Given the description of an element on the screen output the (x, y) to click on. 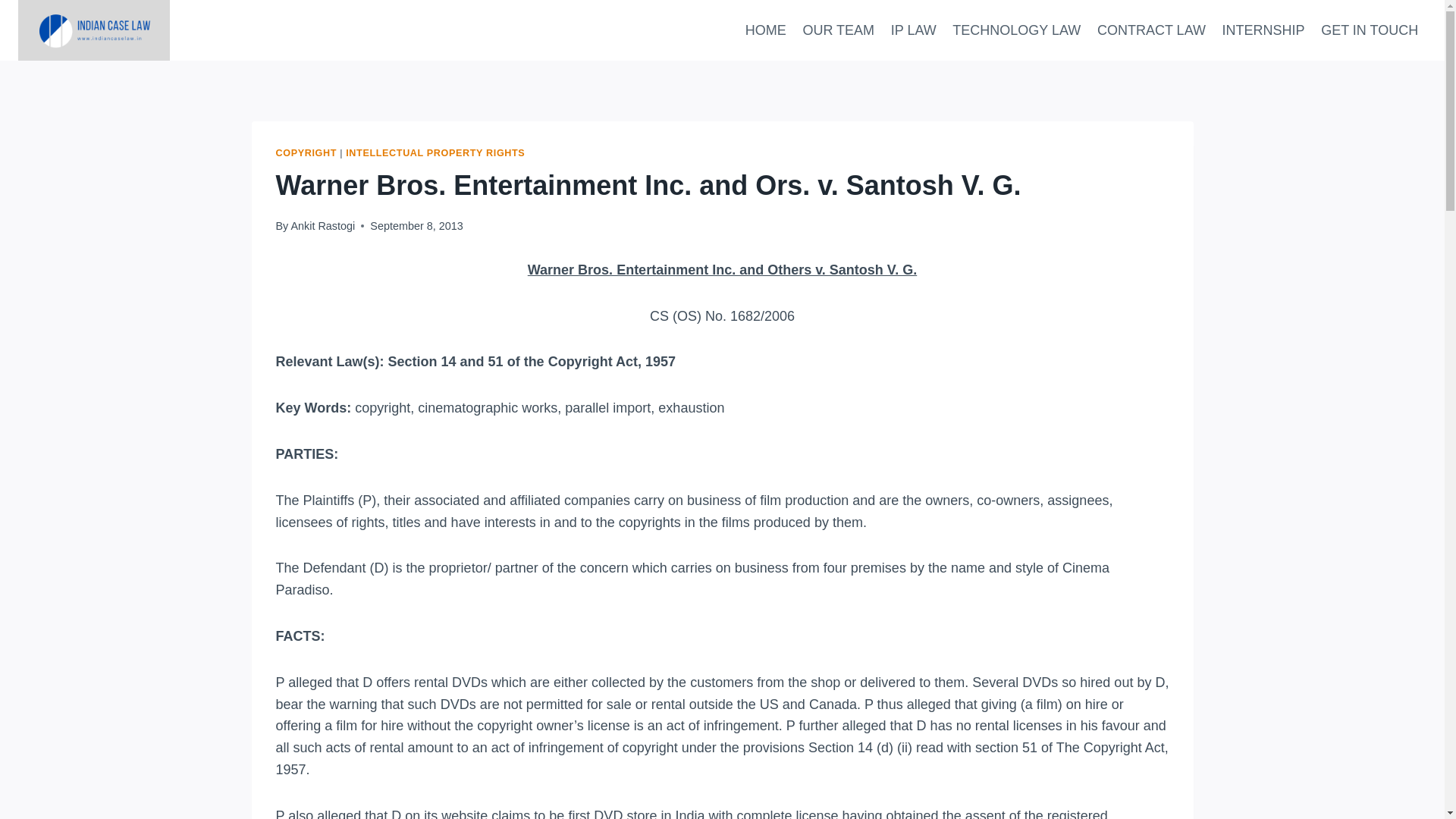
INTELLECTUAL PROPERTY RIGHTS (435, 153)
Ankit Rastogi (322, 225)
OUR TEAM (838, 30)
IP LAW (913, 30)
COPYRIGHT (306, 153)
INTERNSHIP (1263, 30)
CONTRACT LAW (1151, 30)
TECHNOLOGY LAW (1016, 30)
GET IN TOUCH (1369, 30)
HOME (765, 30)
